Given the description of an element on the screen output the (x, y) to click on. 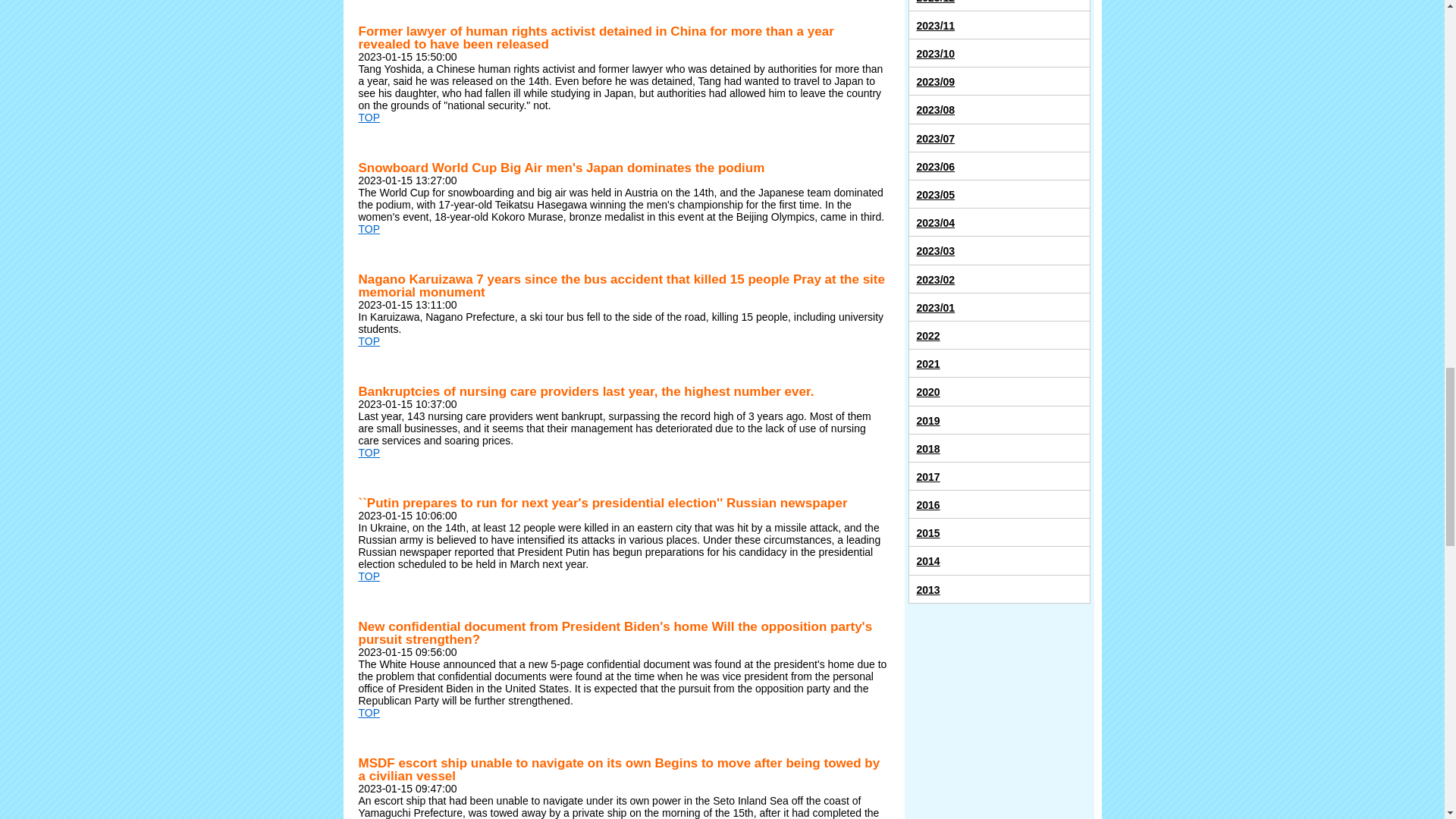
TOP (369, 576)
TOP (369, 117)
TOP (369, 340)
TOP (369, 228)
TOP (369, 712)
TOP (369, 452)
